Given the description of an element on the screen output the (x, y) to click on. 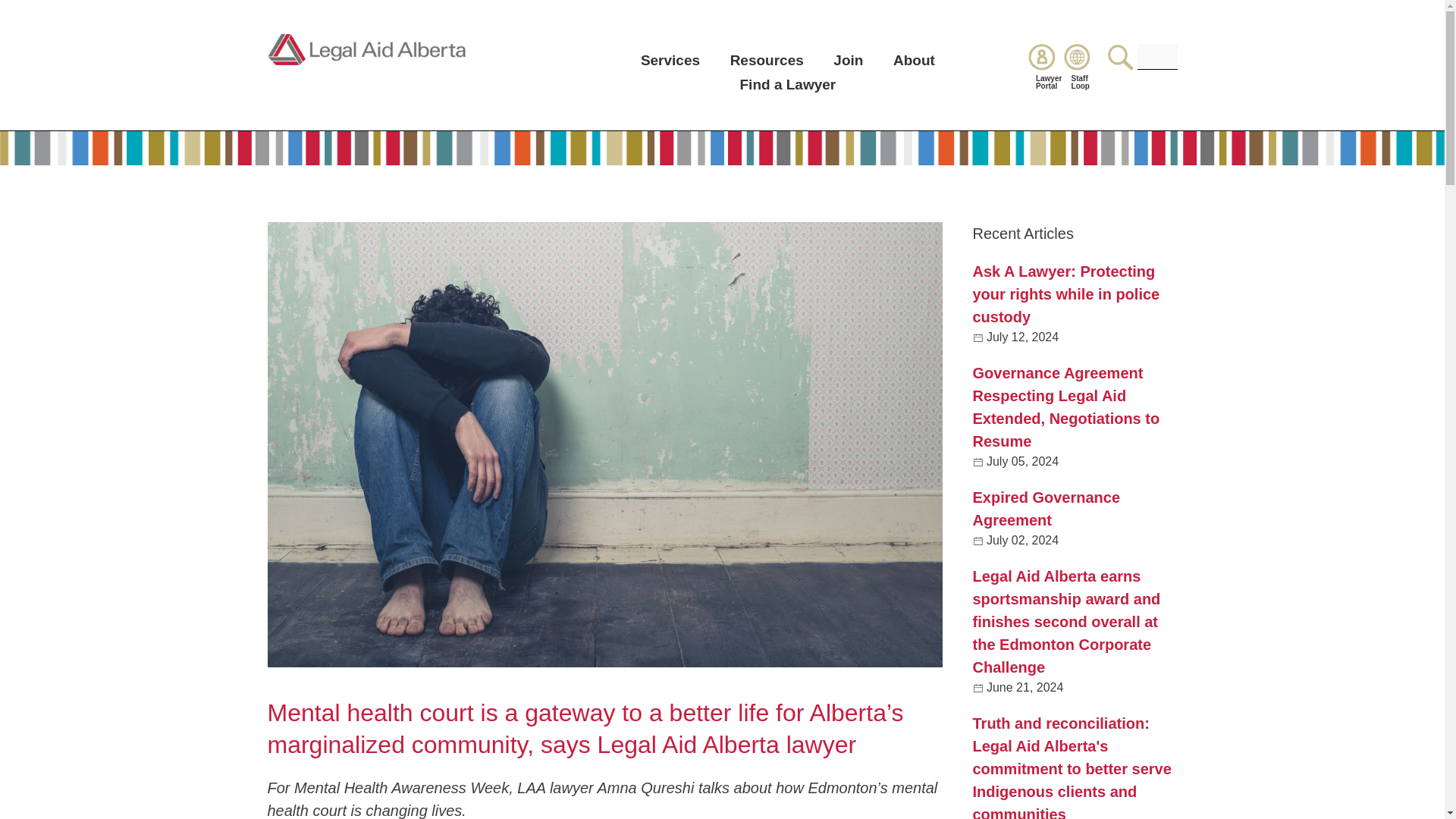
Join (847, 59)
Services (670, 59)
Resources (766, 59)
Find a Lawyer (787, 84)
About (913, 59)
